Given the description of an element on the screen output the (x, y) to click on. 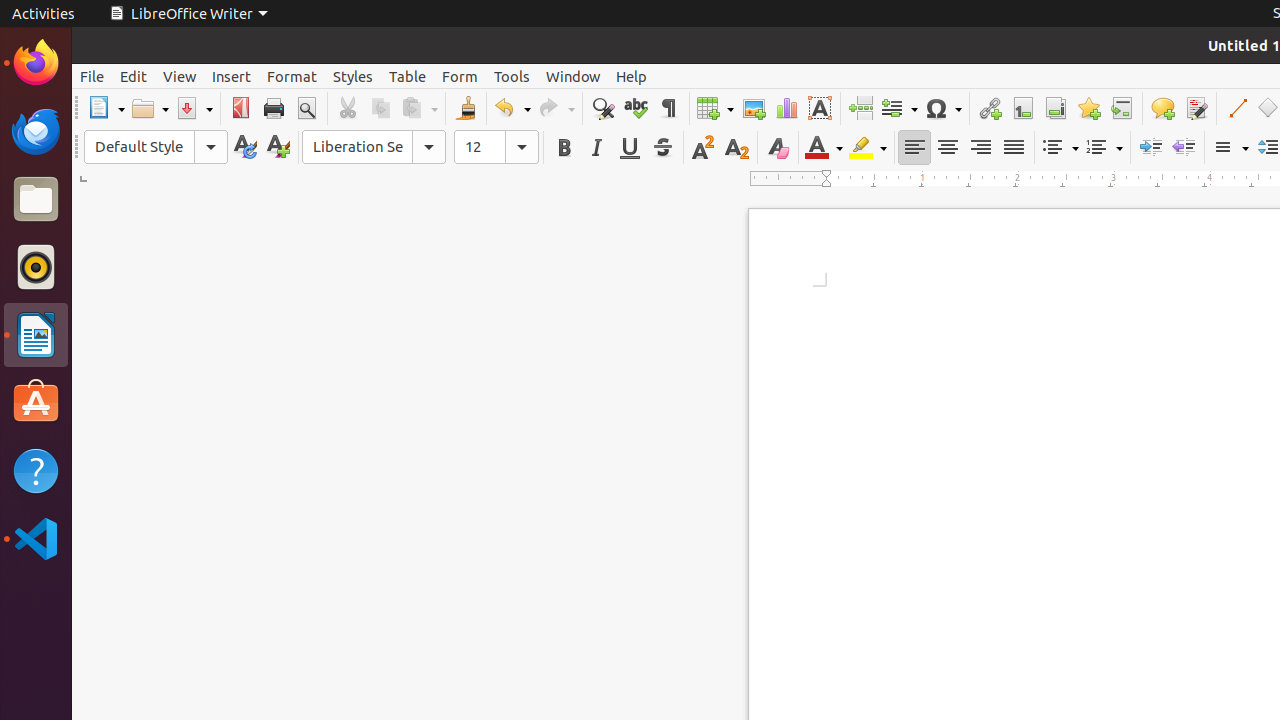
Form Element type: menu (460, 76)
Underline Element type: push-button (629, 147)
Insert Element type: menu (231, 76)
Italic Element type: toggle-button (596, 147)
Tools Element type: menu (512, 76)
